Given the description of an element on the screen output the (x, y) to click on. 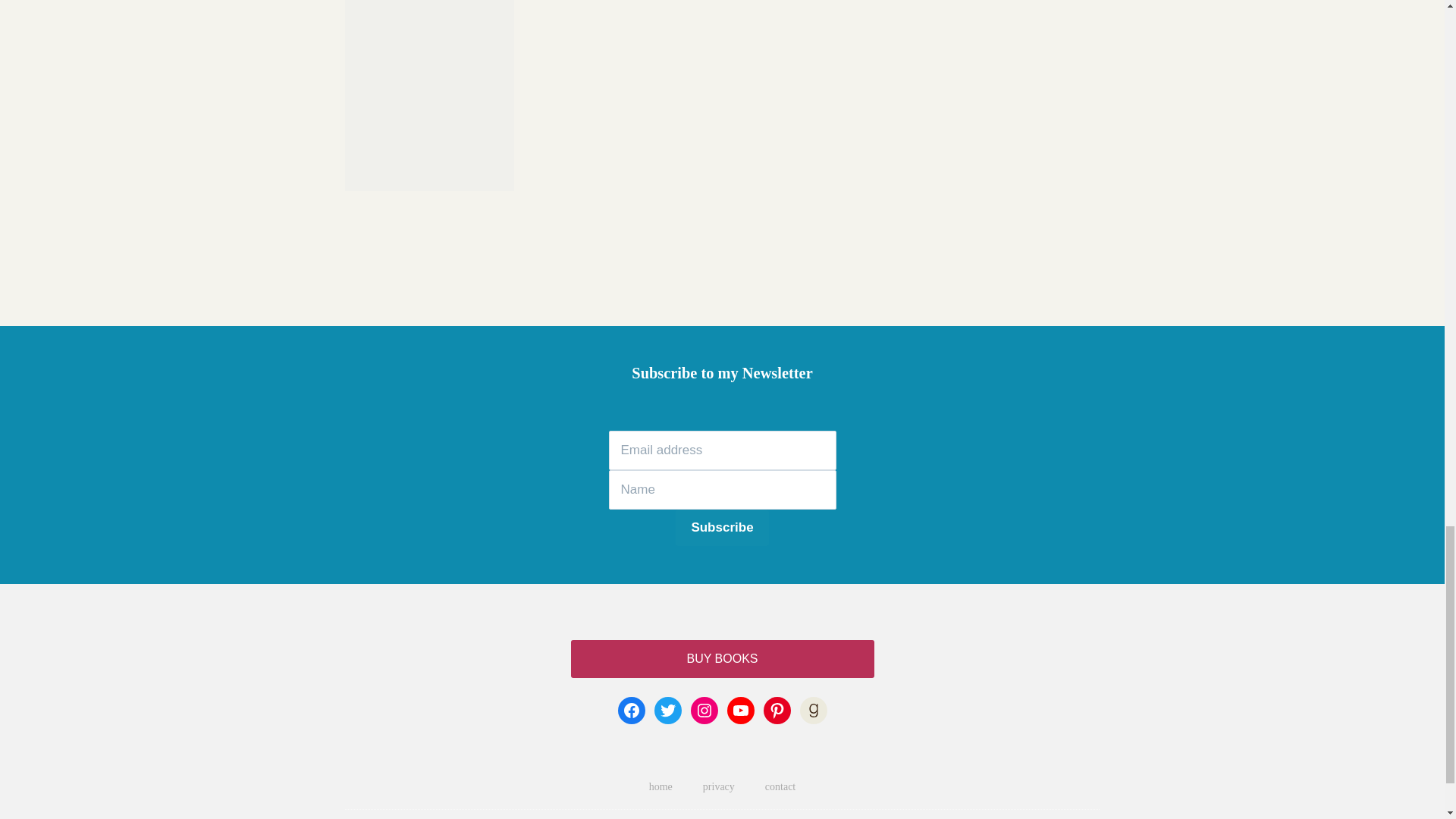
Goodreads (813, 709)
contact (779, 786)
Pinterest (776, 709)
privacy (718, 786)
Twitter (667, 709)
YouTube (740, 709)
Subscribe (721, 527)
Facebook (631, 709)
Subscribe (721, 527)
Instagram (703, 709)
BUY BOOKS (721, 658)
home (660, 786)
